Given the description of an element on the screen output the (x, y) to click on. 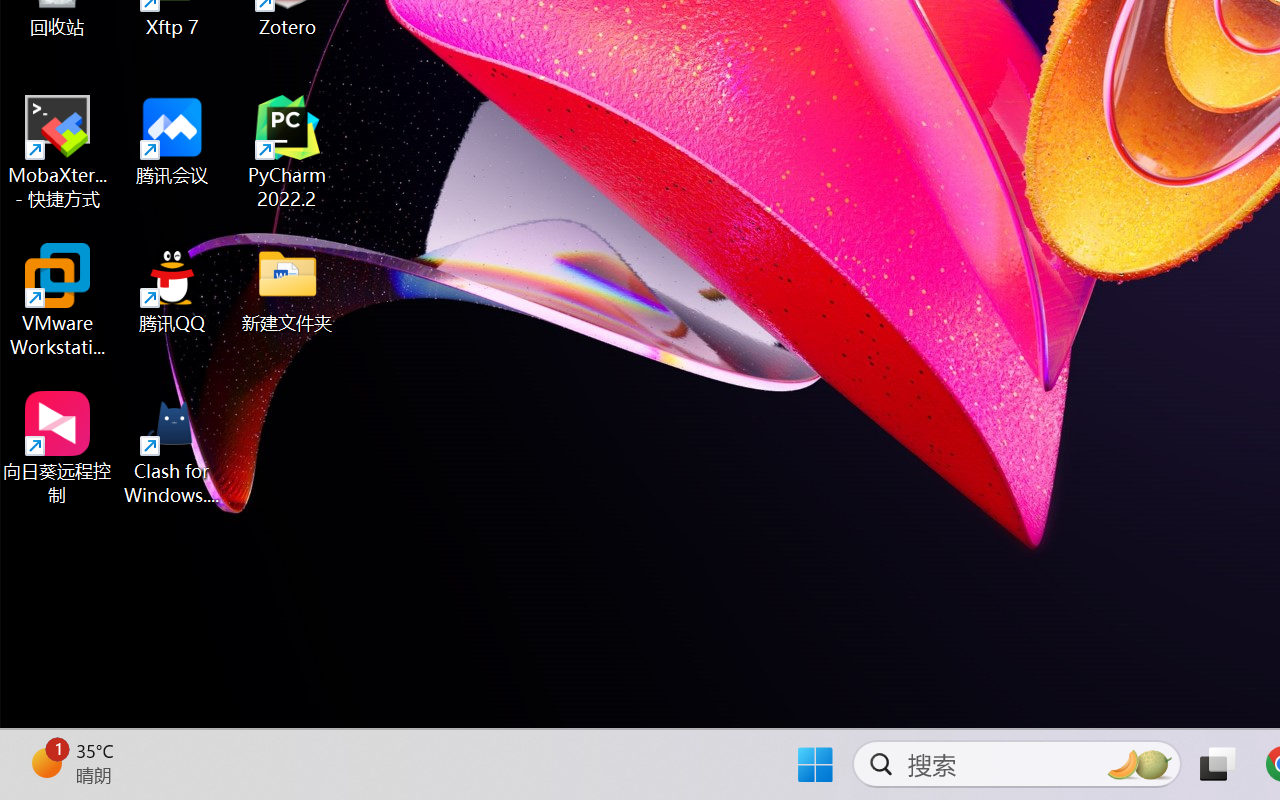
VMware Workstation Pro (57, 300)
PyCharm 2022.2 (287, 152)
